Given the description of an element on the screen output the (x, y) to click on. 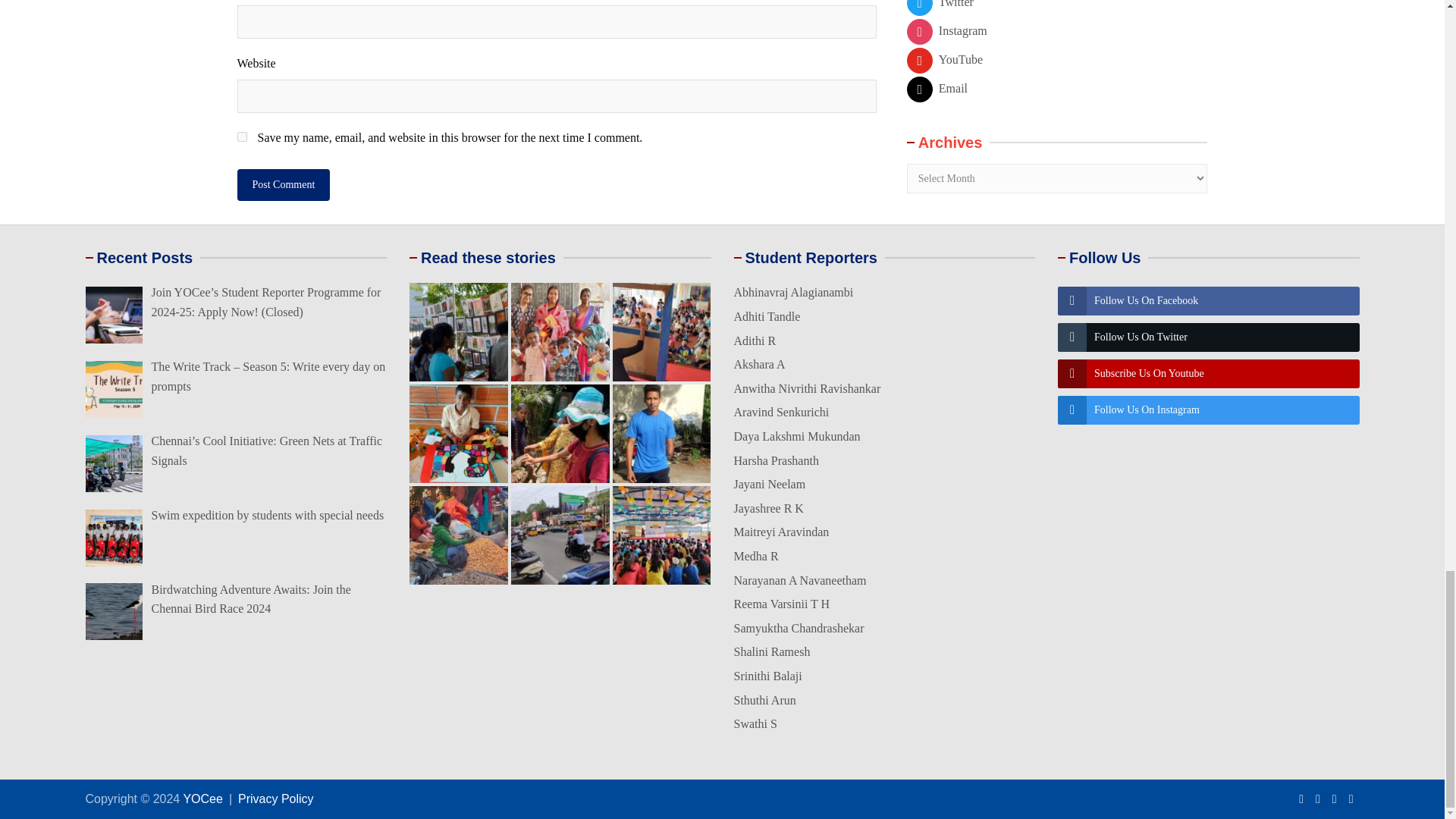
Post Comment (282, 184)
yes (240, 136)
